Given the description of an element on the screen output the (x, y) to click on. 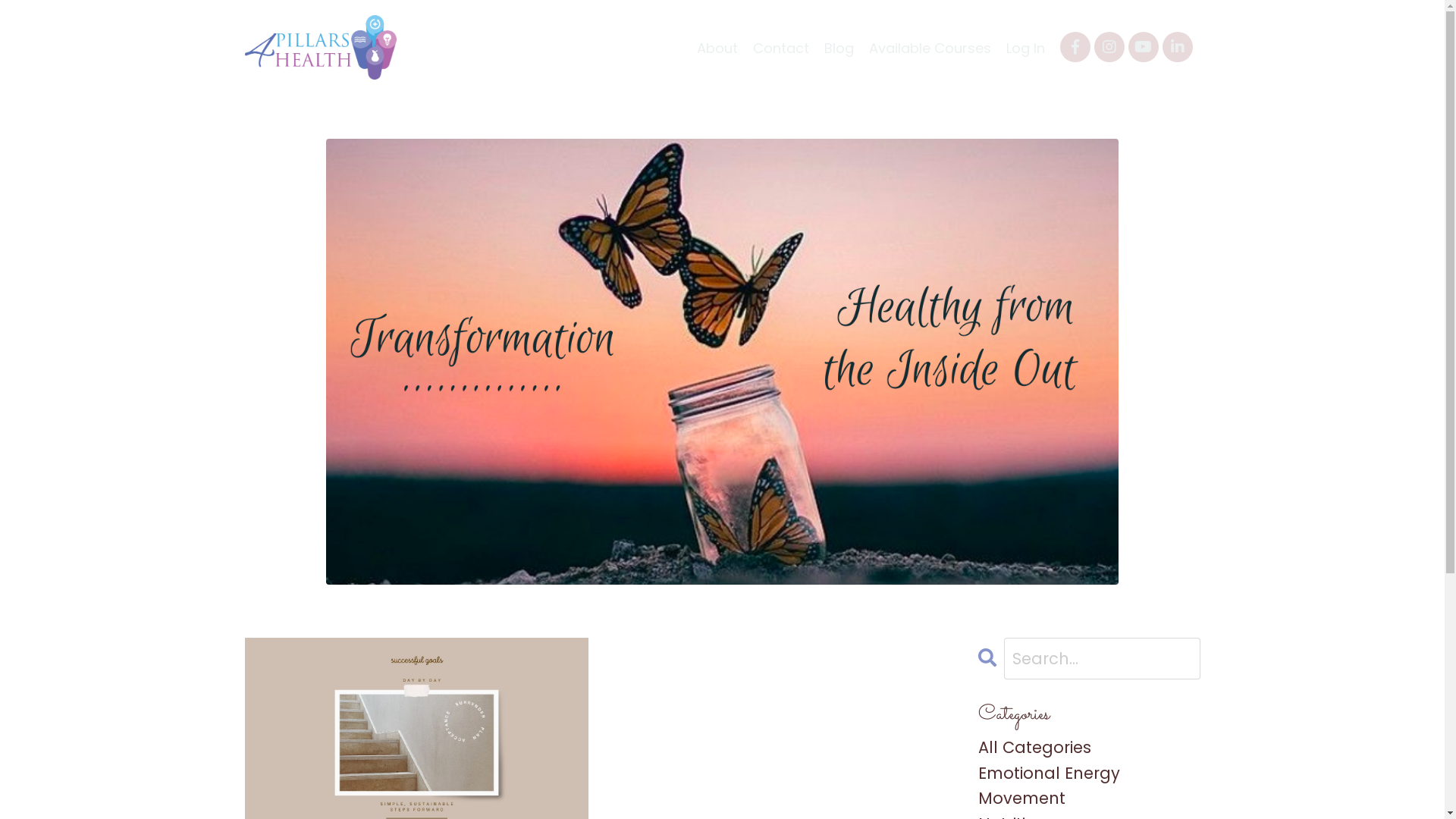
Log In Element type: text (1024, 47)
Available Courses Element type: text (930, 48)
Contact Element type: text (780, 48)
About Element type: text (716, 48)
Emotional Energy Element type: text (1089, 773)
Blog Element type: text (838, 48)
Movement Element type: text (1089, 798)
All Categories Element type: text (1089, 747)
